Given the description of an element on the screen output the (x, y) to click on. 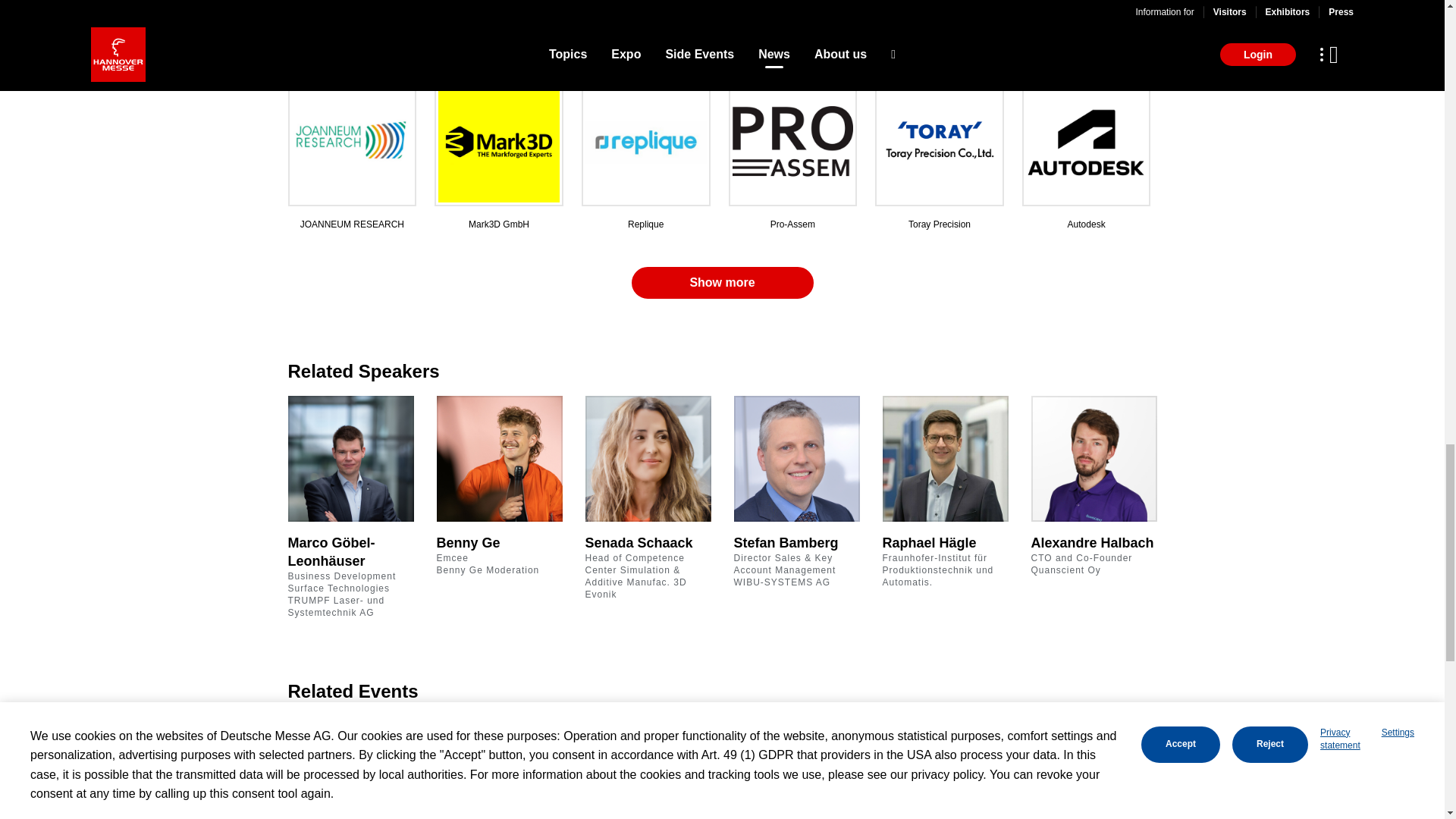
Show more (721, 282)
